Given the description of an element on the screen output the (x, y) to click on. 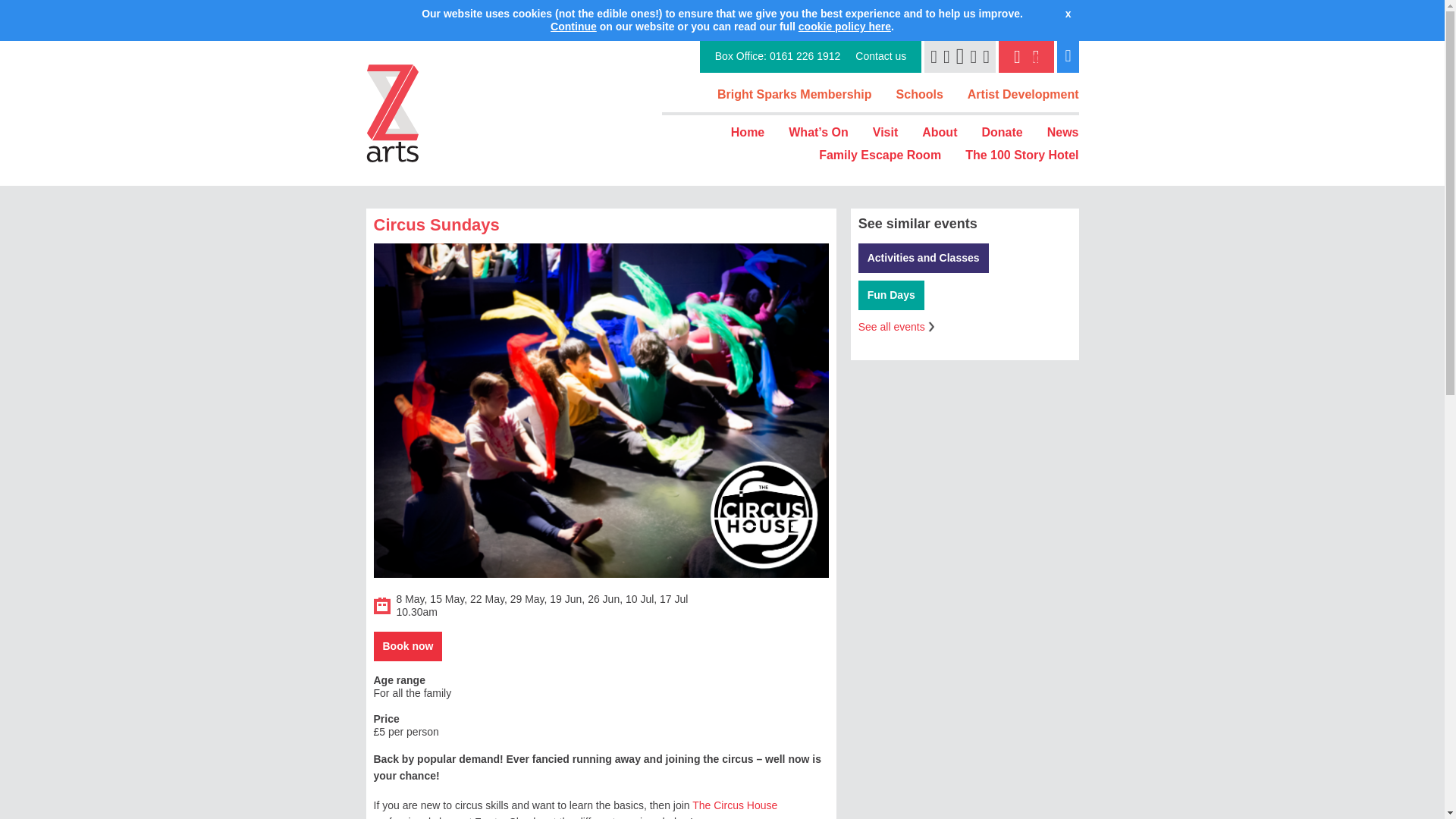
Contact us (880, 55)
Continue (573, 26)
Box Office: 0161 226 1912 (777, 55)
Activities and Classes (923, 257)
The 100 Story Hotel (1021, 154)
Book now (407, 645)
News (1062, 132)
Schools (919, 93)
Donate (1001, 132)
Fun Days (891, 295)
Artist Development (1023, 93)
Home (747, 132)
Family Escape Room (879, 154)
The Circus House (735, 805)
Book now (407, 645)
